Given the description of an element on the screen output the (x, y) to click on. 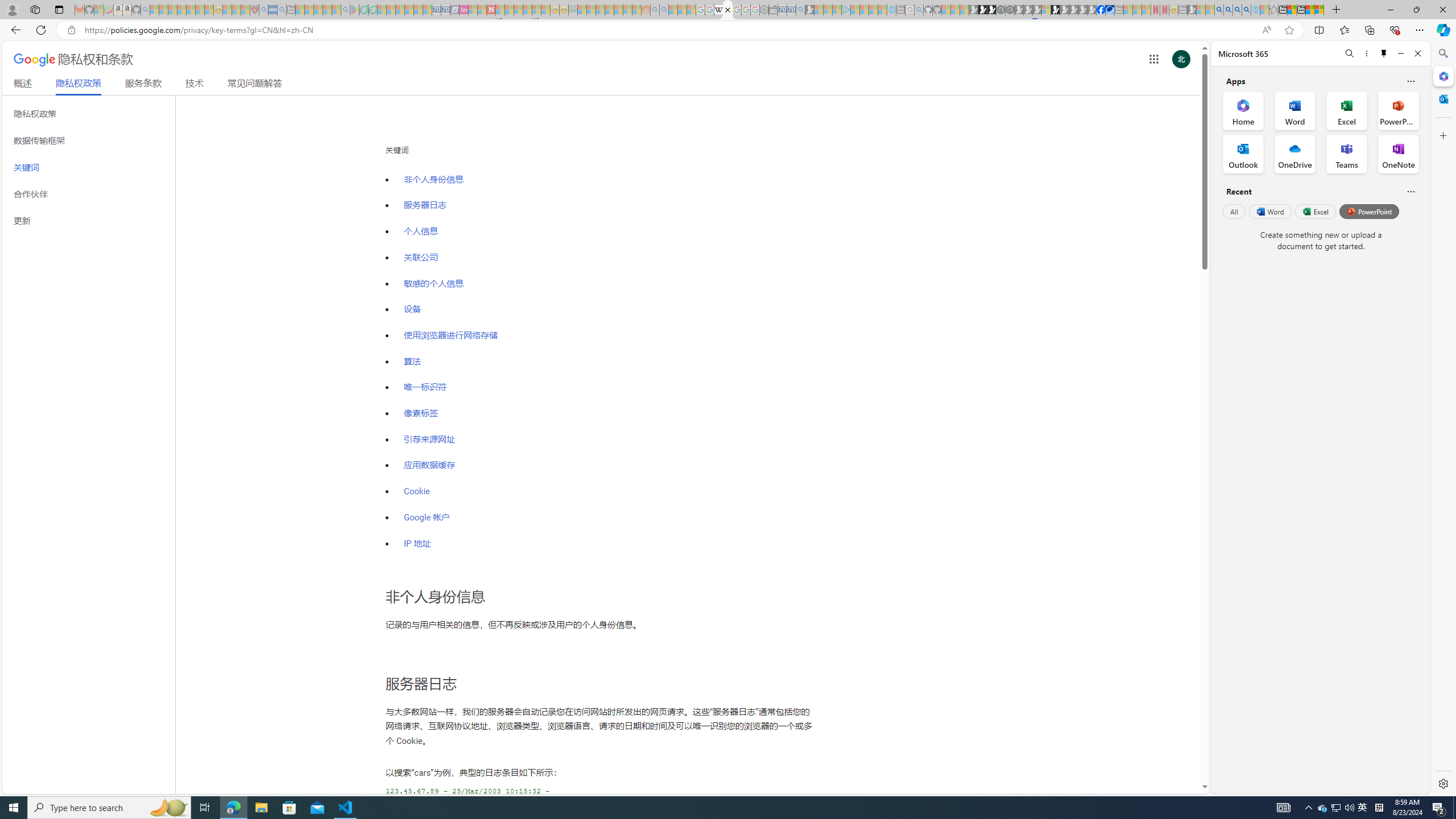
Is this helpful? (1410, 191)
Teams Office App (1346, 154)
PowerPoint (1369, 210)
